Given the description of an element on the screen output the (x, y) to click on. 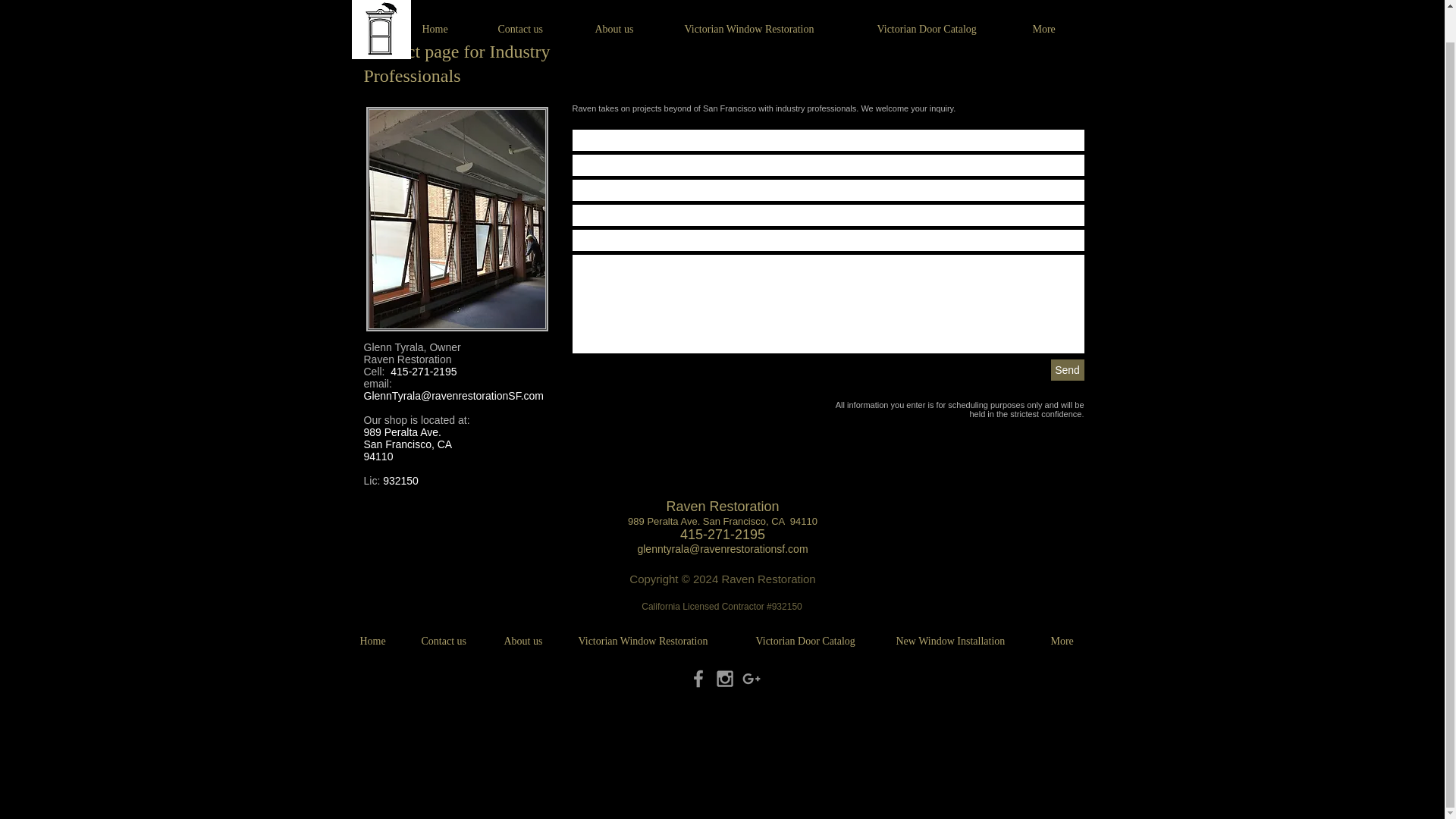
Send (1067, 369)
New Window Installation (961, 641)
Contact us (534, 12)
About us (530, 641)
Victorian Window Restoration (769, 12)
Contact us (450, 641)
Home (448, 12)
About us (627, 12)
Victorian Door Catalog (944, 12)
Victorian Door Catalog (814, 641)
